Given the description of an element on the screen output the (x, y) to click on. 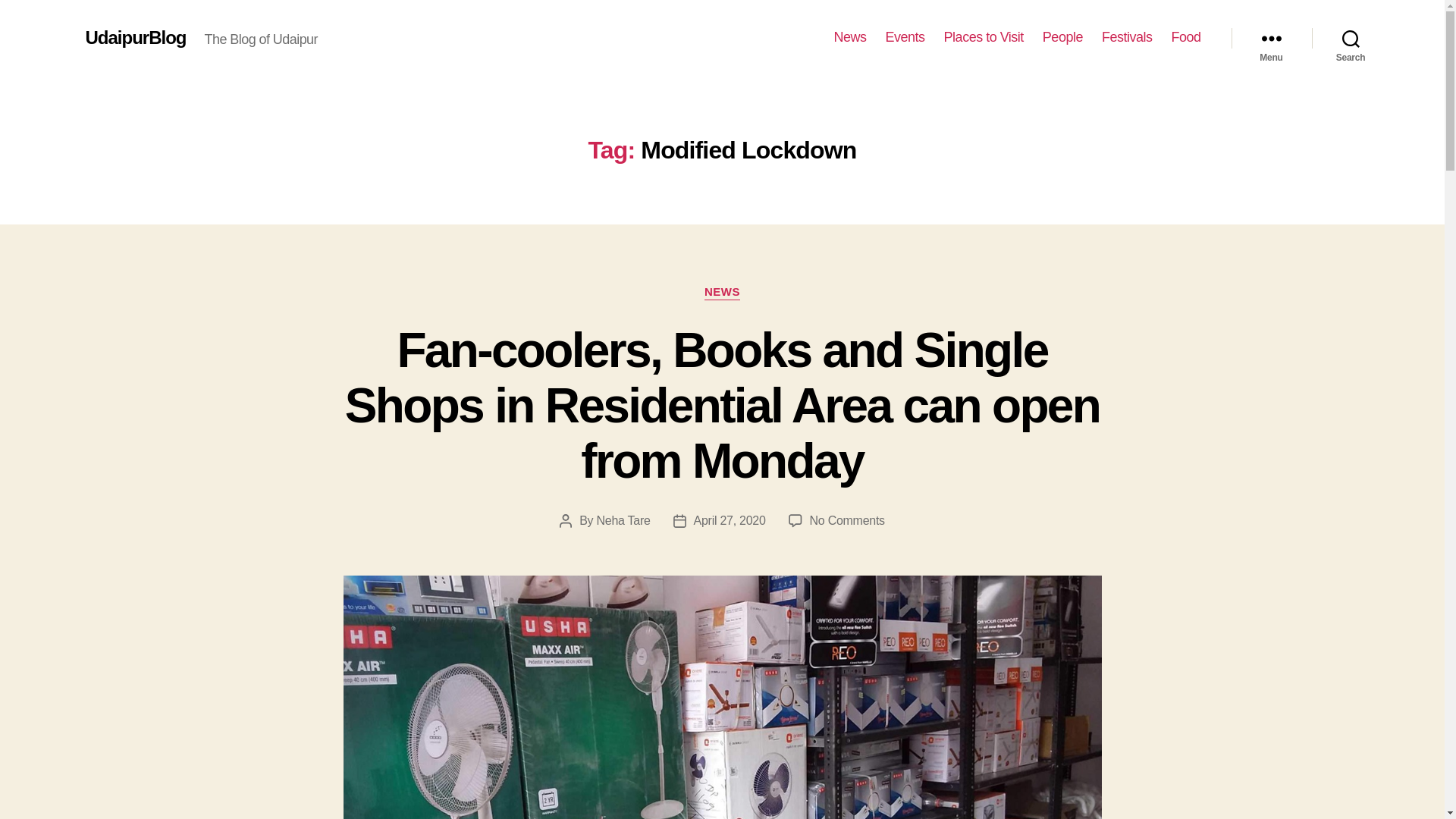
Neha Tare (622, 520)
Food (1184, 37)
Places to Visit (983, 37)
Events (904, 37)
Festivals (1127, 37)
NEWS (721, 292)
Menu (1271, 37)
People (1062, 37)
Search (1350, 37)
